Given the description of an element on the screen output the (x, y) to click on. 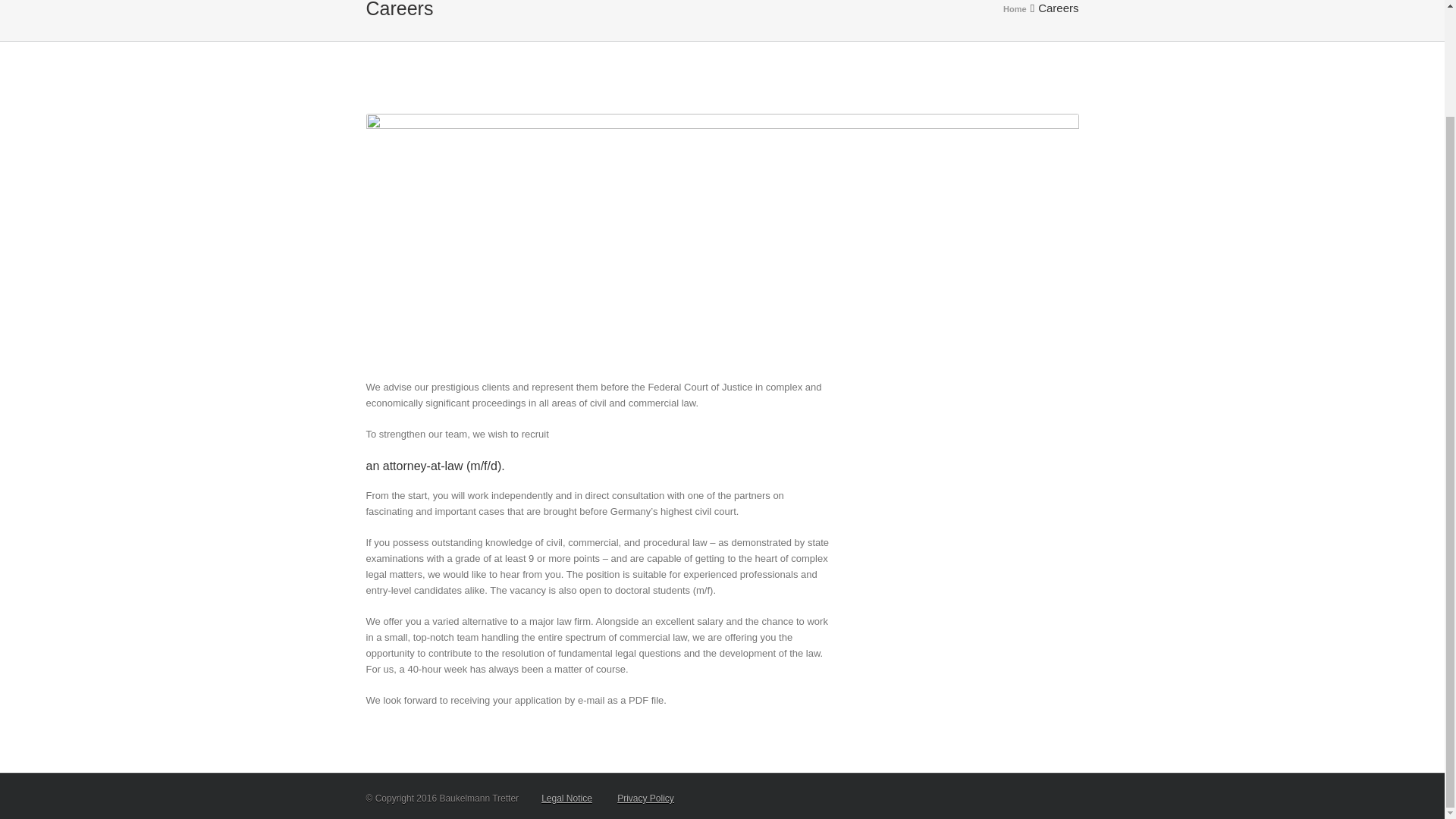
Legal Notice (566, 798)
Home (1016, 8)
Privacy Policy (645, 798)
